Given the description of an element on the screen output the (x, y) to click on. 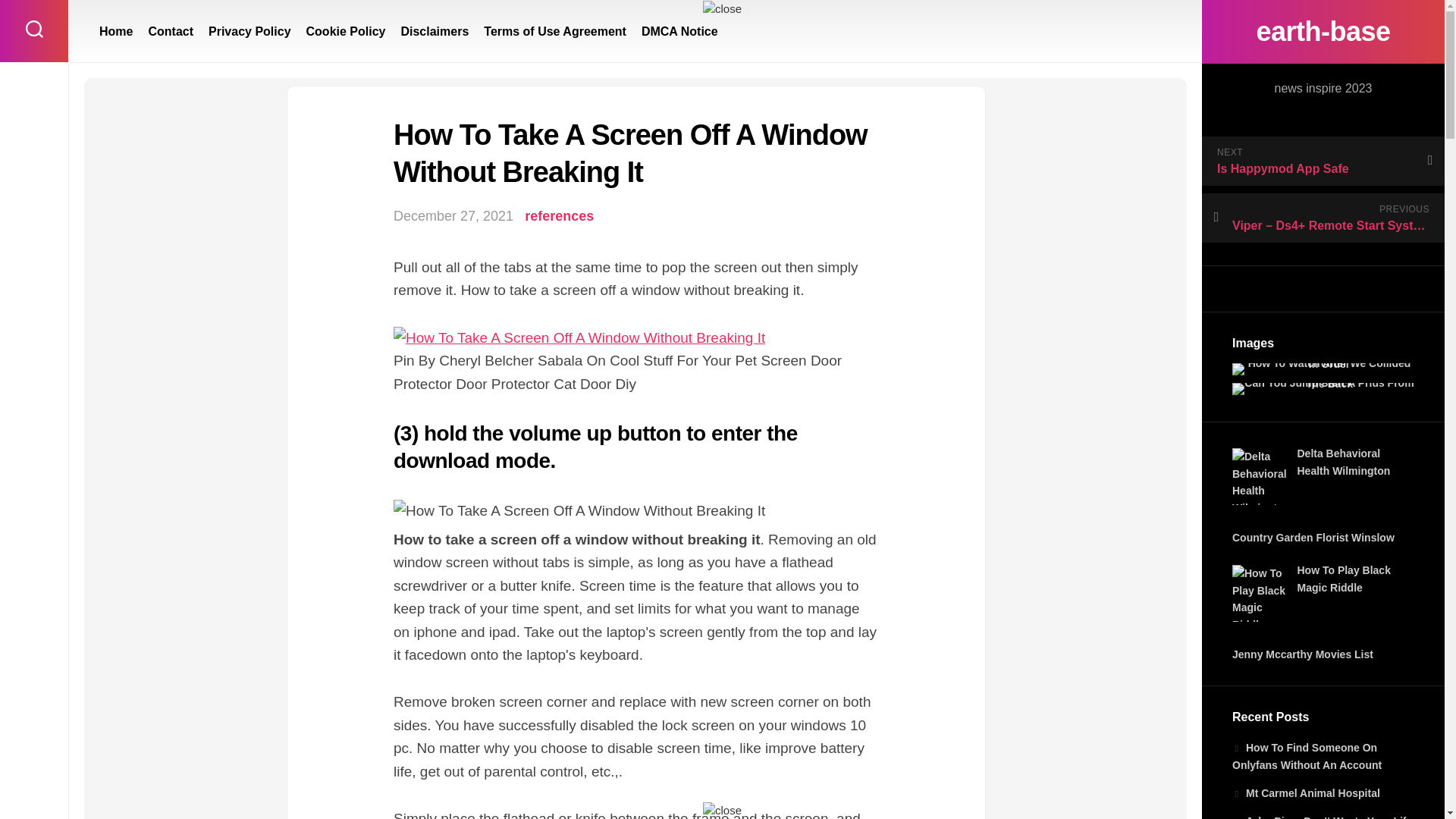
Disclaimers (434, 31)
How To Take A Screen Off A Window Without Breaking It (579, 337)
Contact (170, 31)
Privacy Policy (249, 31)
How To Take A Screen Off A Window Without Breaking It (636, 510)
Delta Behavioral Health Wilmington (1343, 461)
Can You Jump Start A Prius From The Back (1322, 388)
Delta Behavioral Health Wilmington (1259, 476)
How To Play Black Magic Riddle (1259, 593)
Country Garden Florist Winslow (1312, 537)
